Given the description of an element on the screen output the (x, y) to click on. 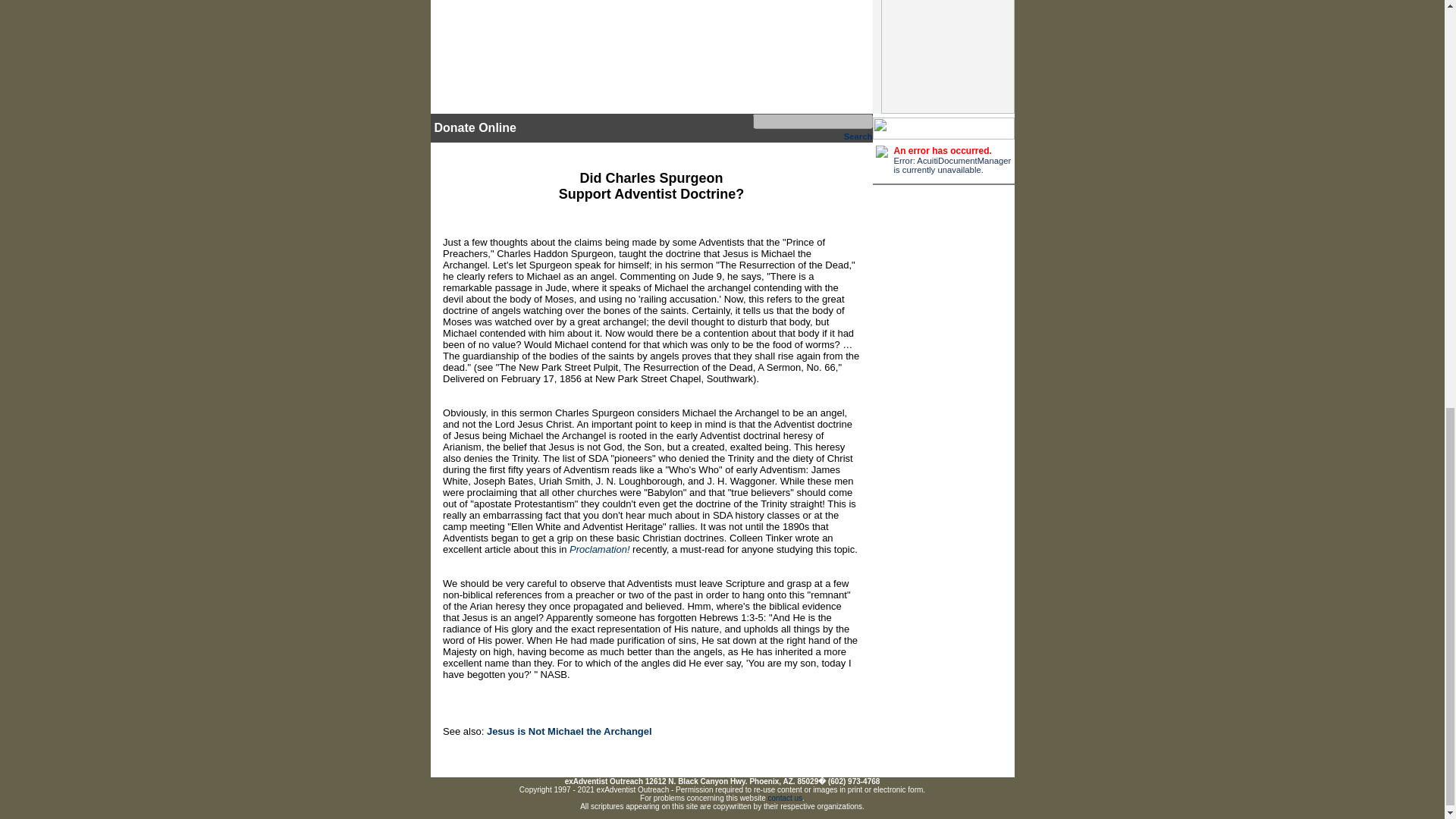
Proclamation! (598, 549)
contact us (785, 797)
Donate Online (474, 127)
Search (858, 135)
Jesus is Not Michael the Archangel (569, 731)
